Given the description of an element on the screen output the (x, y) to click on. 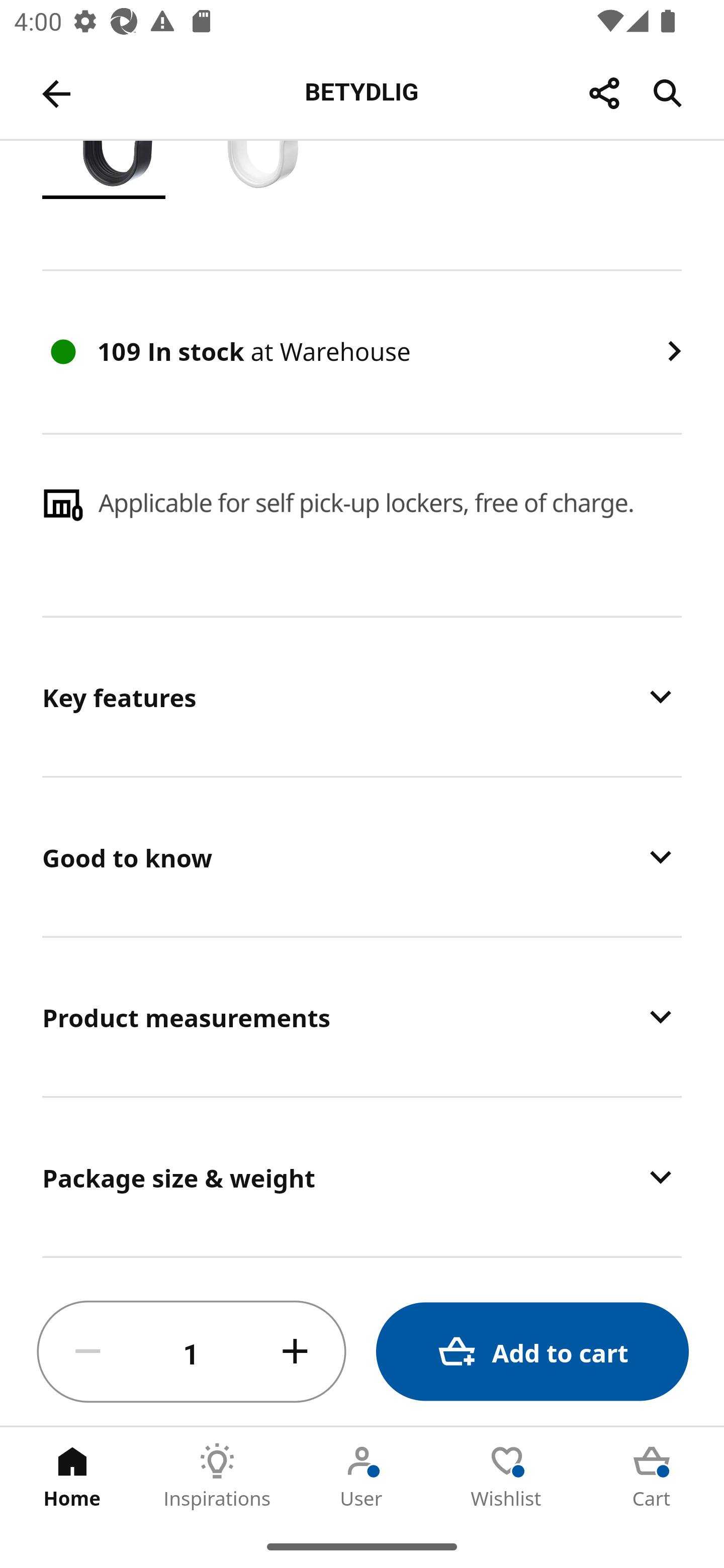
109 In stock at Warehouse (361, 351)
Key features (361, 696)
Good to know (361, 856)
Product measurements (361, 1016)
Package size & weight (361, 1176)
Add to cart (531, 1352)
1 (191, 1352)
Home
Tab 1 of 5 (72, 1476)
Inspirations
Tab 2 of 5 (216, 1476)
User
Tab 3 of 5 (361, 1476)
Wishlist
Tab 4 of 5 (506, 1476)
Cart
Tab 5 of 5 (651, 1476)
